Given the description of an element on the screen output the (x, y) to click on. 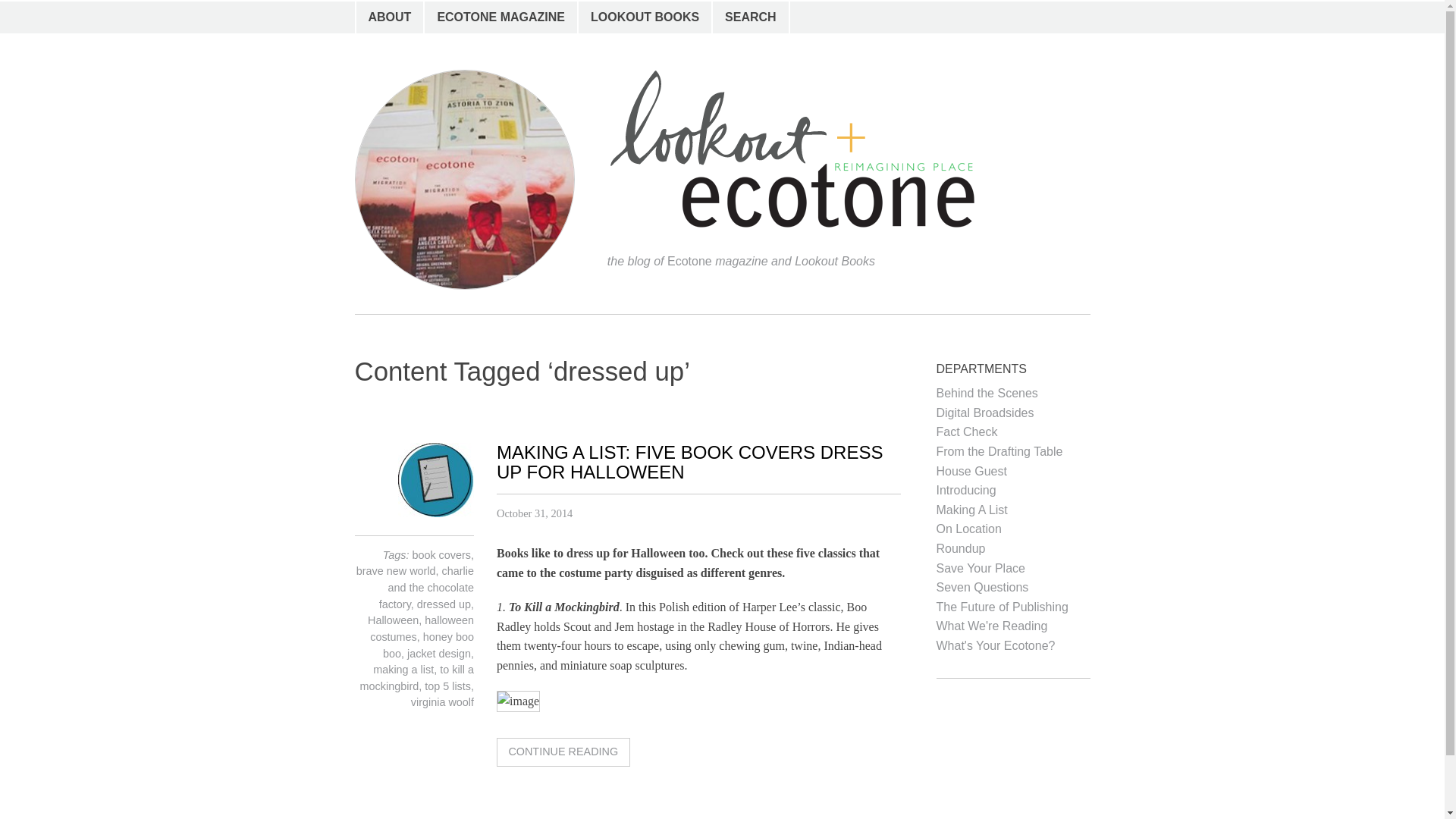
Fact Check (966, 431)
Behind the Scenes (986, 392)
LOOKOUT BOOKS (645, 17)
Save Your Place (980, 567)
House Guest (971, 471)
ECOTONE MAGAZINE (501, 17)
What's Your Ecotone? (995, 645)
Introducing (965, 490)
SEARCH (751, 17)
MAKING A LIST: FIVE BOOK COVERS DRESS UP FOR HALLOWEEN (689, 462)
